Given the description of an element on the screen output the (x, y) to click on. 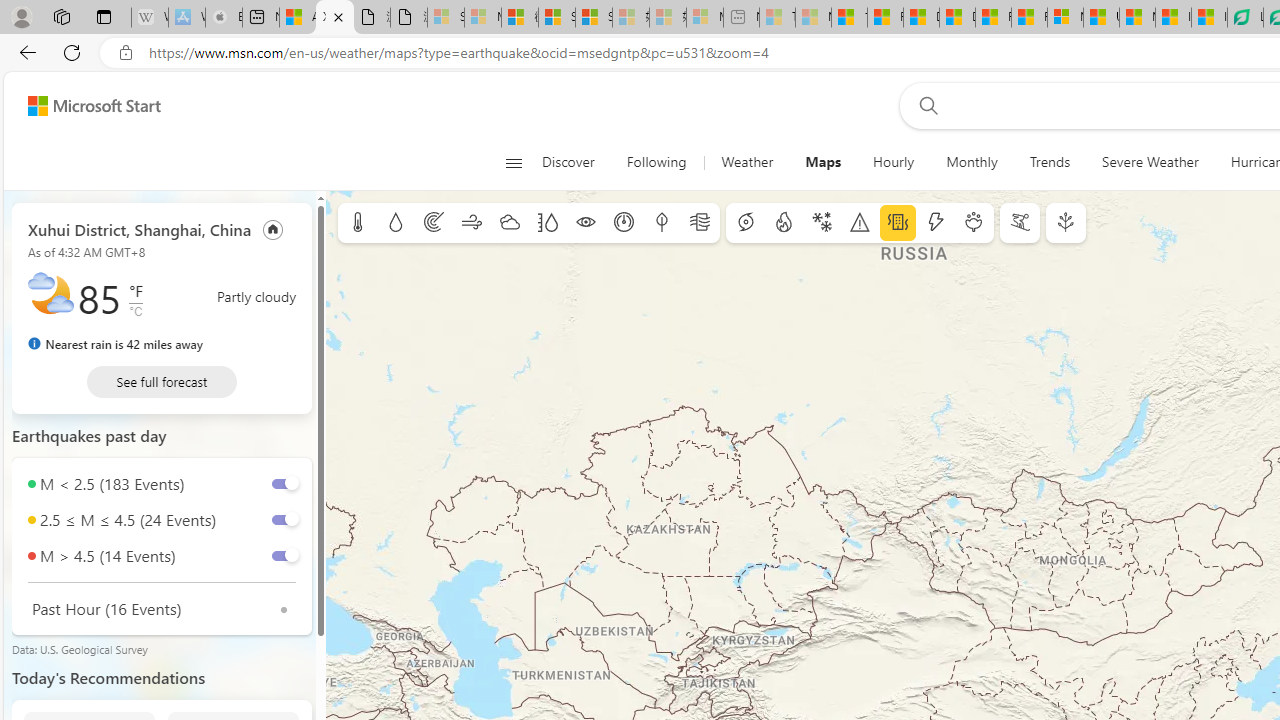
Marine life - MSN - Sleeping (813, 17)
Nearest rain is 42 miles away (115, 344)
Sign in to your Microsoft account - Sleeping (445, 17)
Hurricane (746, 223)
Microsoft Services Agreement - Sleeping (482, 17)
Ski conditions (1020, 223)
Trends (1050, 162)
Lightning (935, 223)
Severe weather (860, 223)
